Given the description of an element on the screen output the (x, y) to click on. 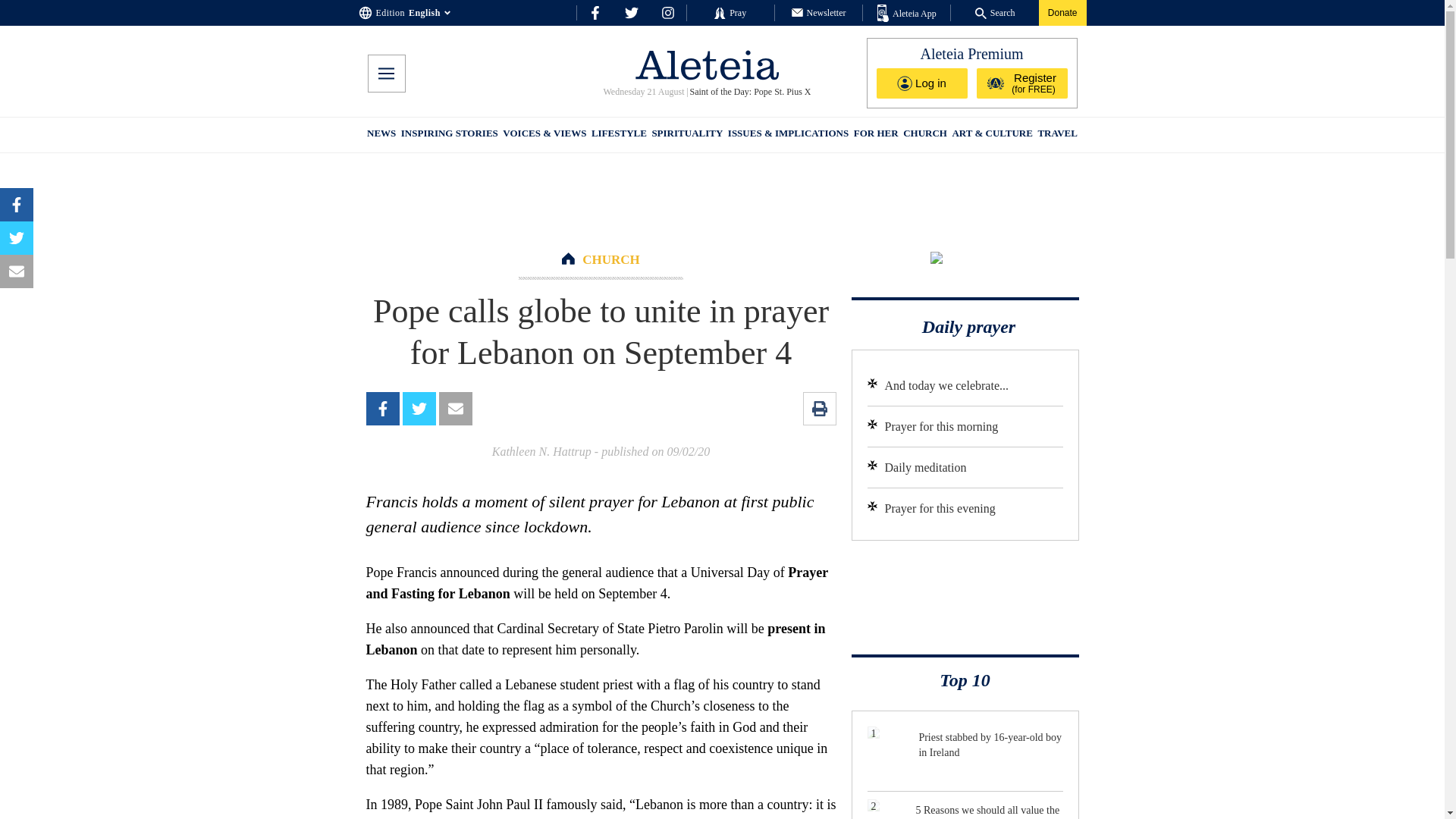
Kathleen N. Hattrup (541, 451)
social-tw-top-row (631, 12)
Donate (1062, 12)
Search (994, 12)
CHURCH (611, 259)
TRAVEL (1056, 134)
FOR HER (875, 134)
Saint of the Day: Pope St. Pius X (749, 91)
mobile-menu-btn (385, 73)
social-fb-top-row (595, 12)
